Given the description of an element on the screen output the (x, y) to click on. 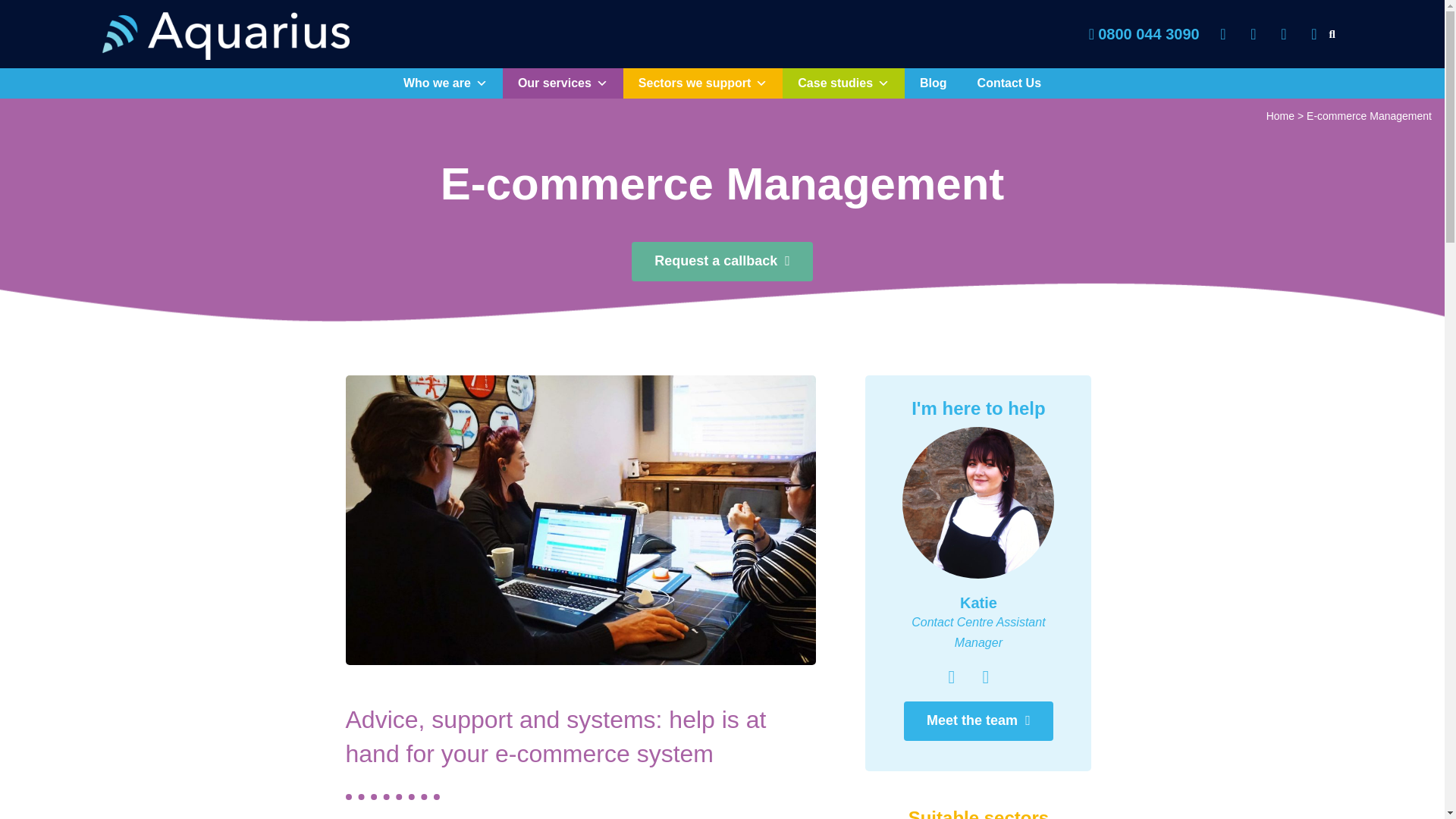
Our services (562, 82)
Case studies (843, 82)
0800 044 3090 (1136, 34)
Who we are (445, 82)
Sectors we support (703, 82)
